Given the description of an element on the screen output the (x, y) to click on. 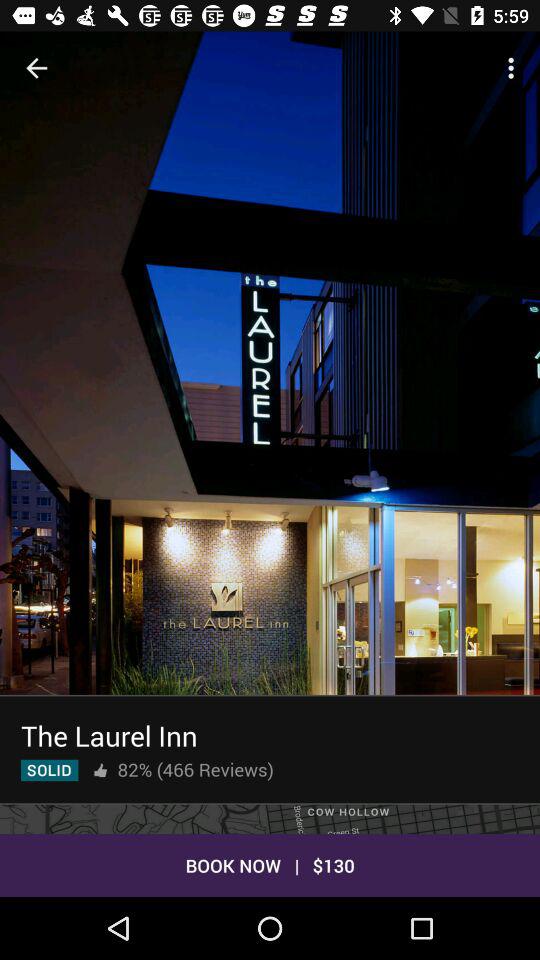
click item below the the laurel inn (195, 769)
